Given the description of an element on the screen output the (x, y) to click on. 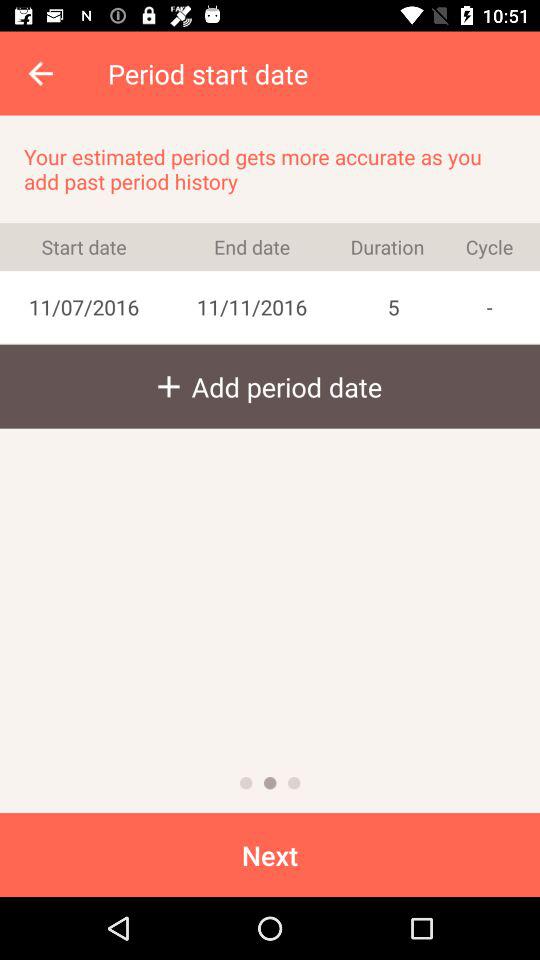
loting button (294, 783)
